Given the description of an element on the screen output the (x, y) to click on. 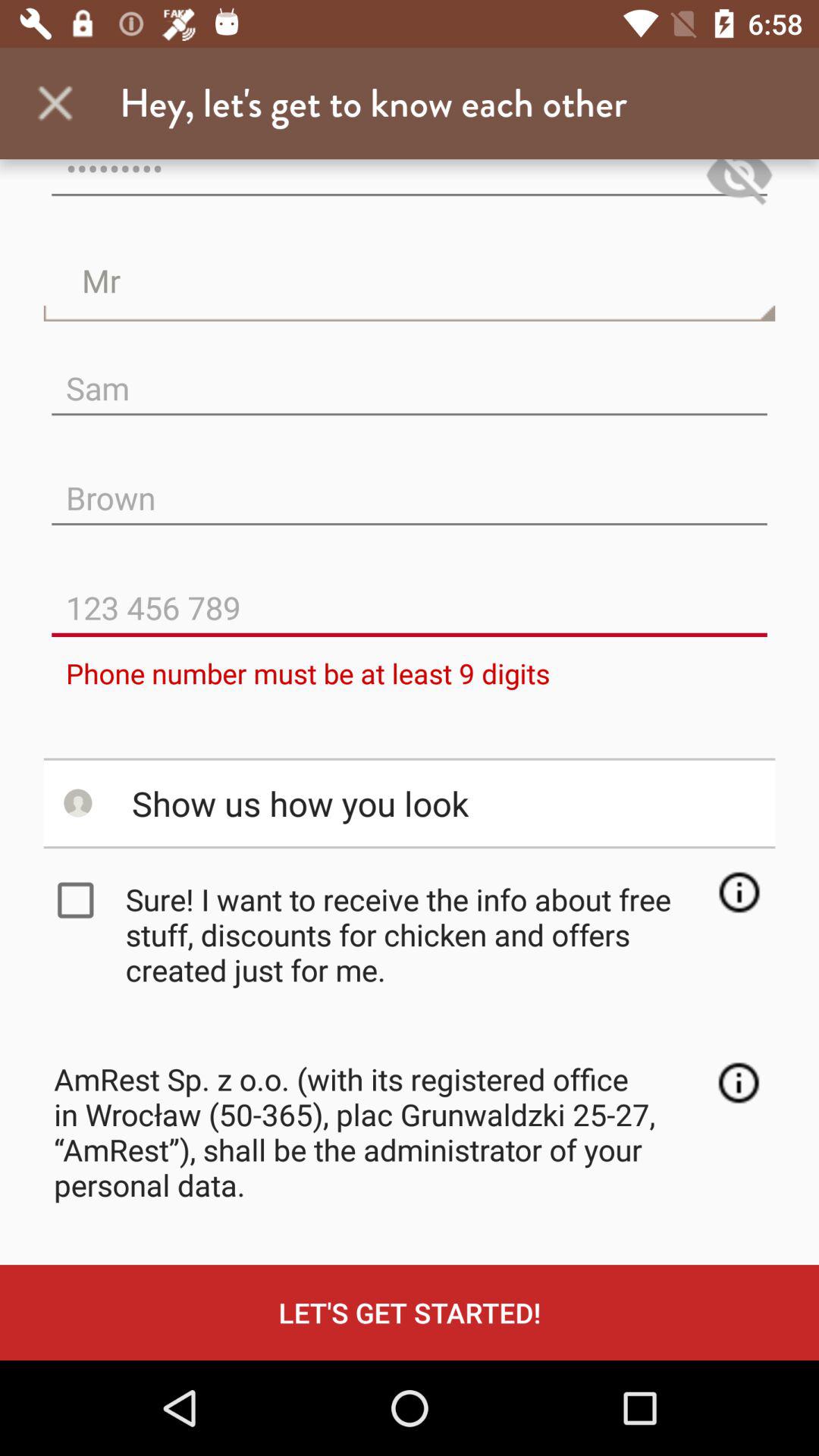
launch the item below sam icon (409, 485)
